Given the description of an element on the screen output the (x, y) to click on. 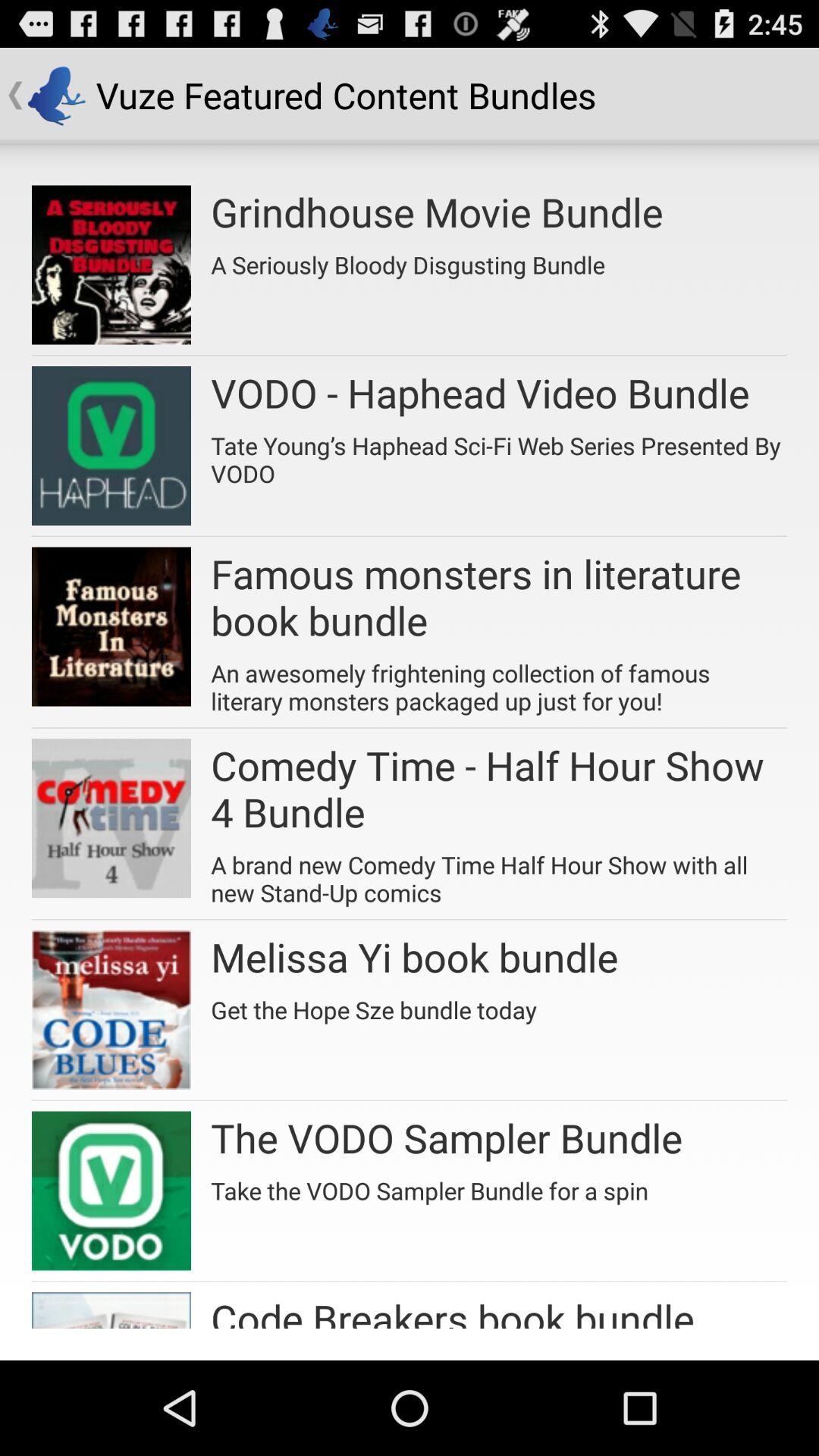
press the item below the famous monsters in icon (499, 681)
